Given the description of an element on the screen output the (x, y) to click on. 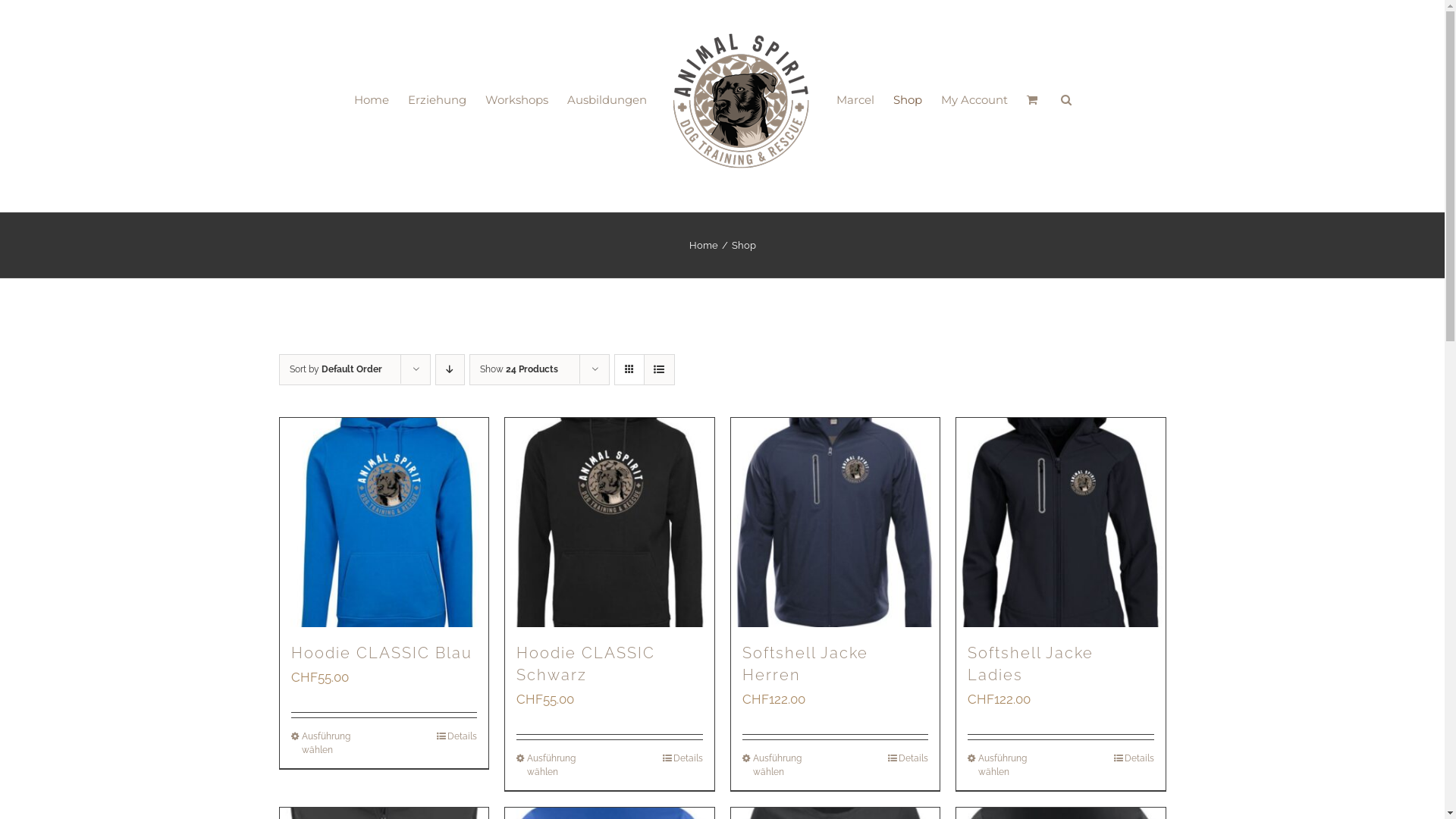
Shop Element type: text (907, 99)
Softshell Jacke Herren Element type: text (804, 663)
Sort by Default Order Element type: text (335, 369)
Details Element type: text (456, 736)
Home Element type: text (702, 245)
Softshell Jacke Ladies Element type: text (1030, 663)
Details Element type: text (682, 758)
Hoodie CLASSIC Blau Element type: text (381, 652)
Marcel Element type: text (855, 99)
Show 24 Products Element type: text (518, 369)
Details Element type: text (1133, 758)
Search Element type: hover (1065, 99)
Home Element type: text (371, 99)
Ausbildungen Element type: text (606, 99)
Details Element type: text (908, 758)
Hoodie CLASSIC Schwarz Element type: text (585, 663)
My Account Element type: text (974, 99)
Workshops Element type: text (516, 99)
Erziehung Element type: text (436, 99)
Log In Element type: text (1036, 269)
